Given the description of an element on the screen output the (x, y) to click on. 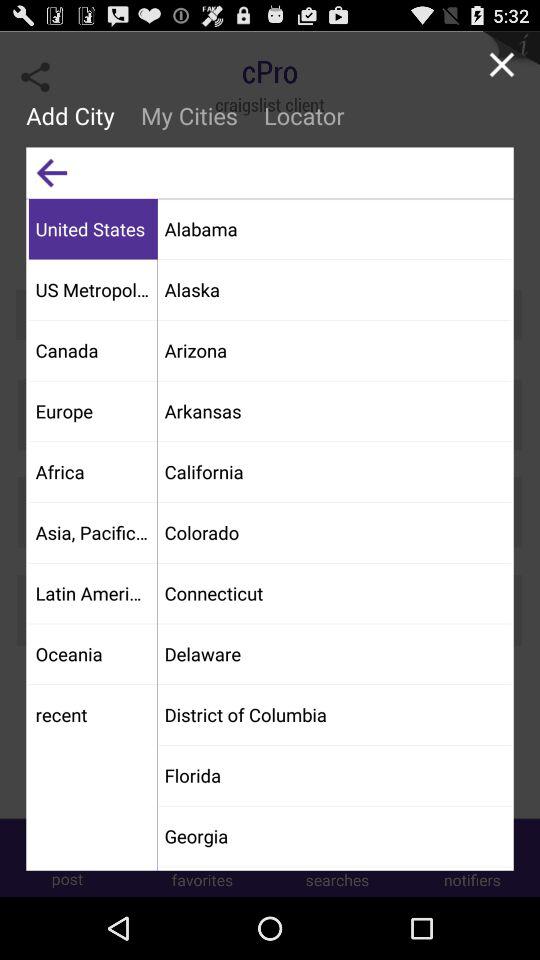
turn on the alabama app (334, 228)
